Given the description of an element on the screen output the (x, y) to click on. 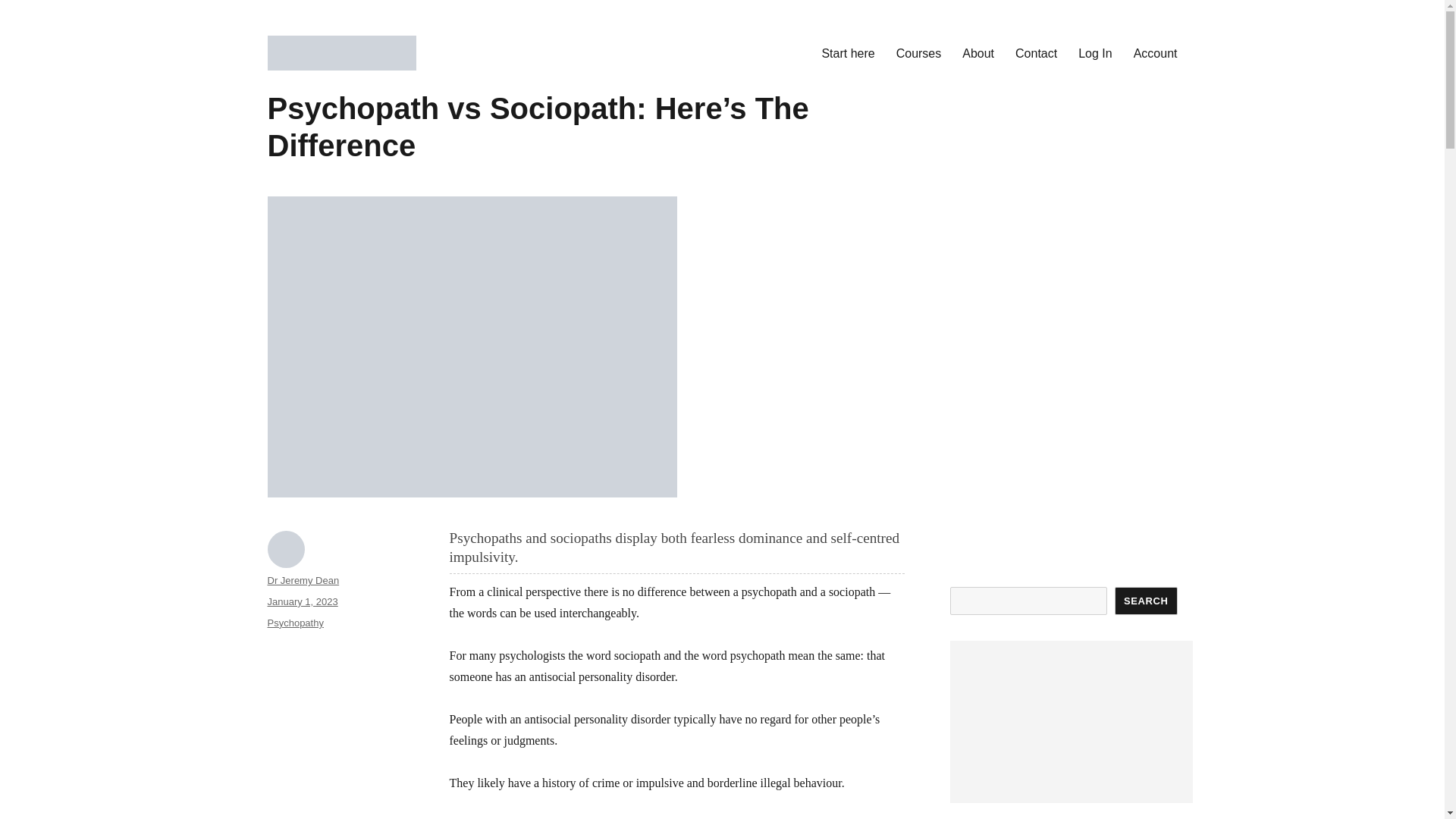
Dr Jeremy Dean (302, 580)
About (978, 52)
Log In (1094, 52)
January 1, 2023 (301, 601)
Account (1155, 52)
Courses (918, 52)
Psychopathy (294, 622)
Contact (1035, 52)
Start here (847, 52)
PsyBlog (309, 94)
SEARCH (1146, 601)
